Given the description of an element on the screen output the (x, y) to click on. 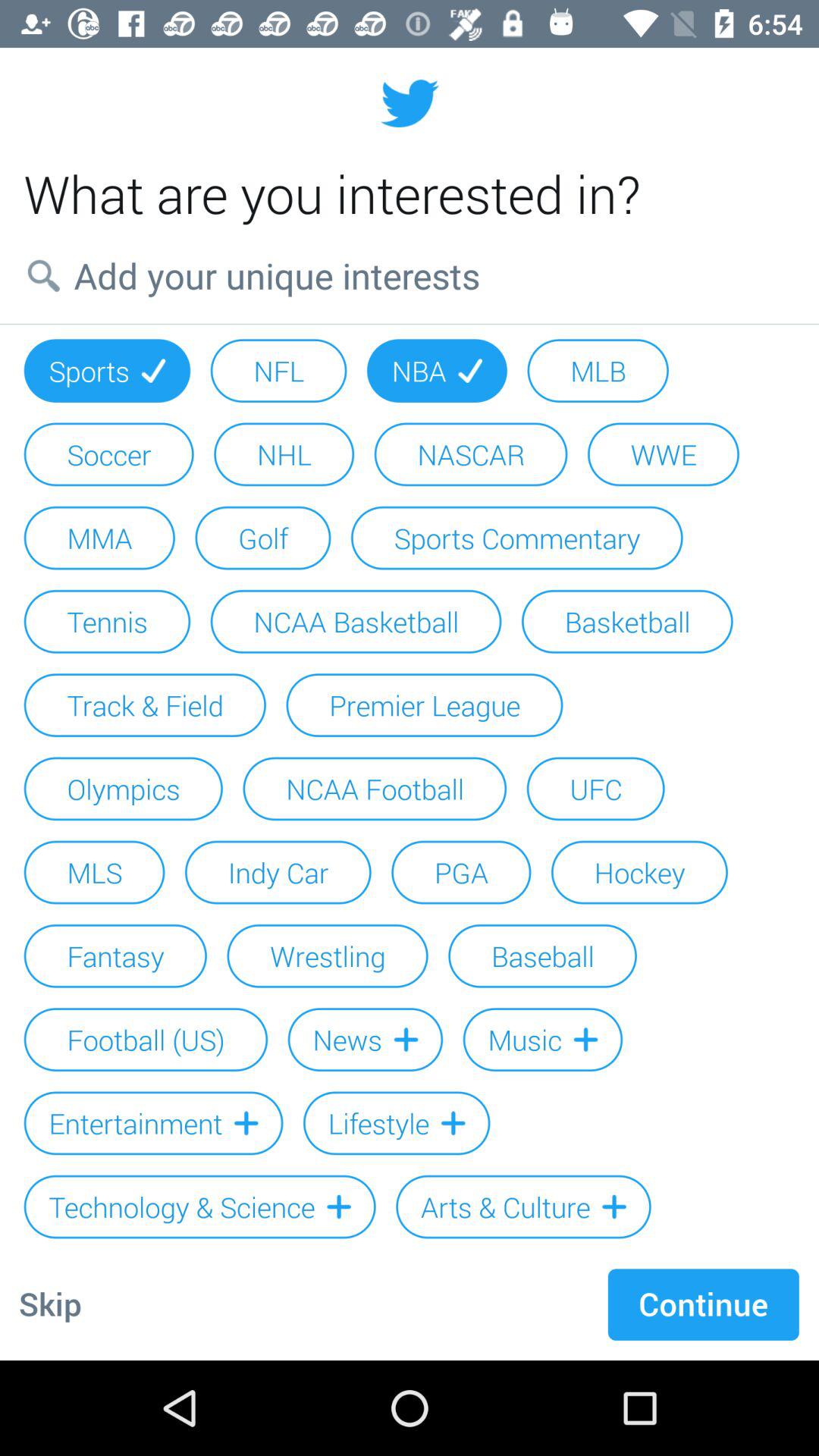
select olympics (122, 788)
